Given the description of an element on the screen output the (x, y) to click on. 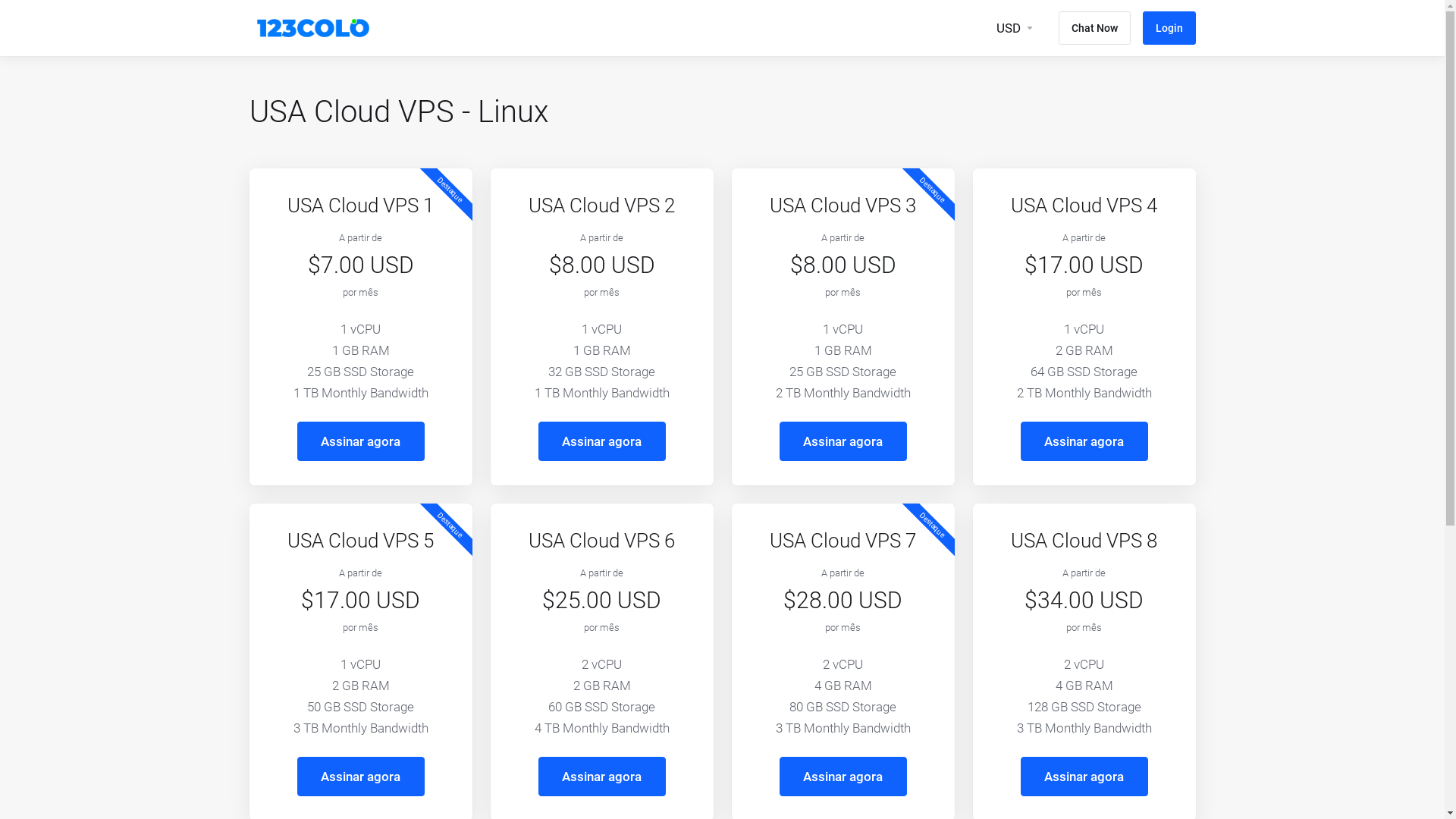
Assinar agora Element type: text (842, 776)
Assinar agora Element type: text (601, 776)
Assinar agora Element type: text (842, 441)
Login Element type: text (1168, 27)
123 Colo Element type: hover (312, 27)
Assinar agora Element type: text (360, 441)
USD Element type: text (1015, 28)
Assinar agora Element type: text (360, 776)
Assinar agora Element type: text (1084, 776)
Assinar agora Element type: text (601, 441)
Chat Now Element type: text (1094, 27)
Assinar agora Element type: text (1084, 441)
